Given the description of an element on the screen output the (x, y) to click on. 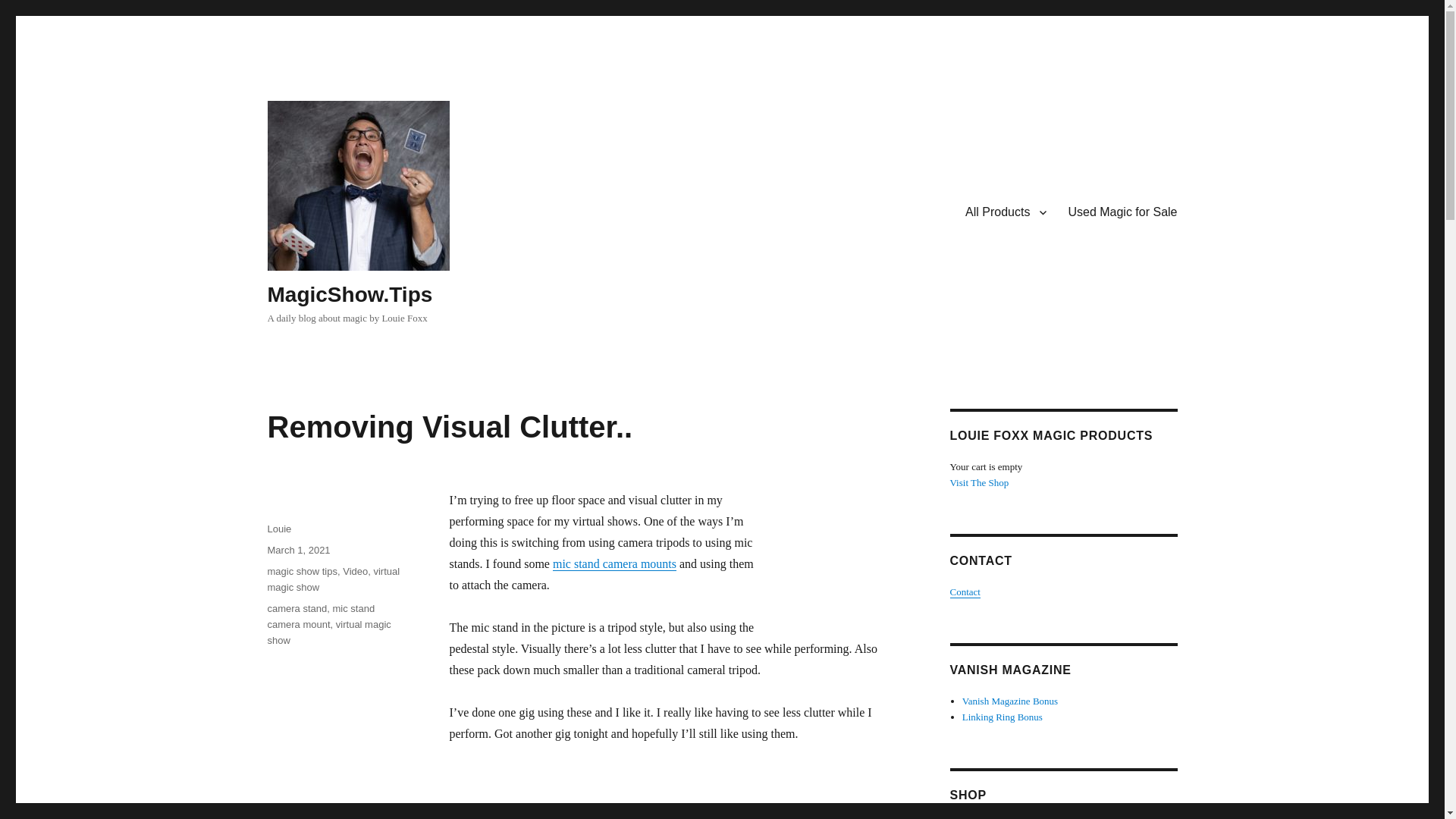
magic show tips (301, 571)
Louie (278, 528)
camera stand (296, 608)
virtual magic show (328, 632)
mic stand camera mount (320, 615)
Contact (964, 591)
mic stand camera mounts (615, 563)
MagicShow.Tips (349, 294)
All Products (1006, 212)
Visit The Shop (979, 482)
March 1, 2021 (298, 550)
Used Magic for Sale (1122, 212)
Video (355, 571)
virtual magic show (332, 578)
